Given the description of an element on the screen output the (x, y) to click on. 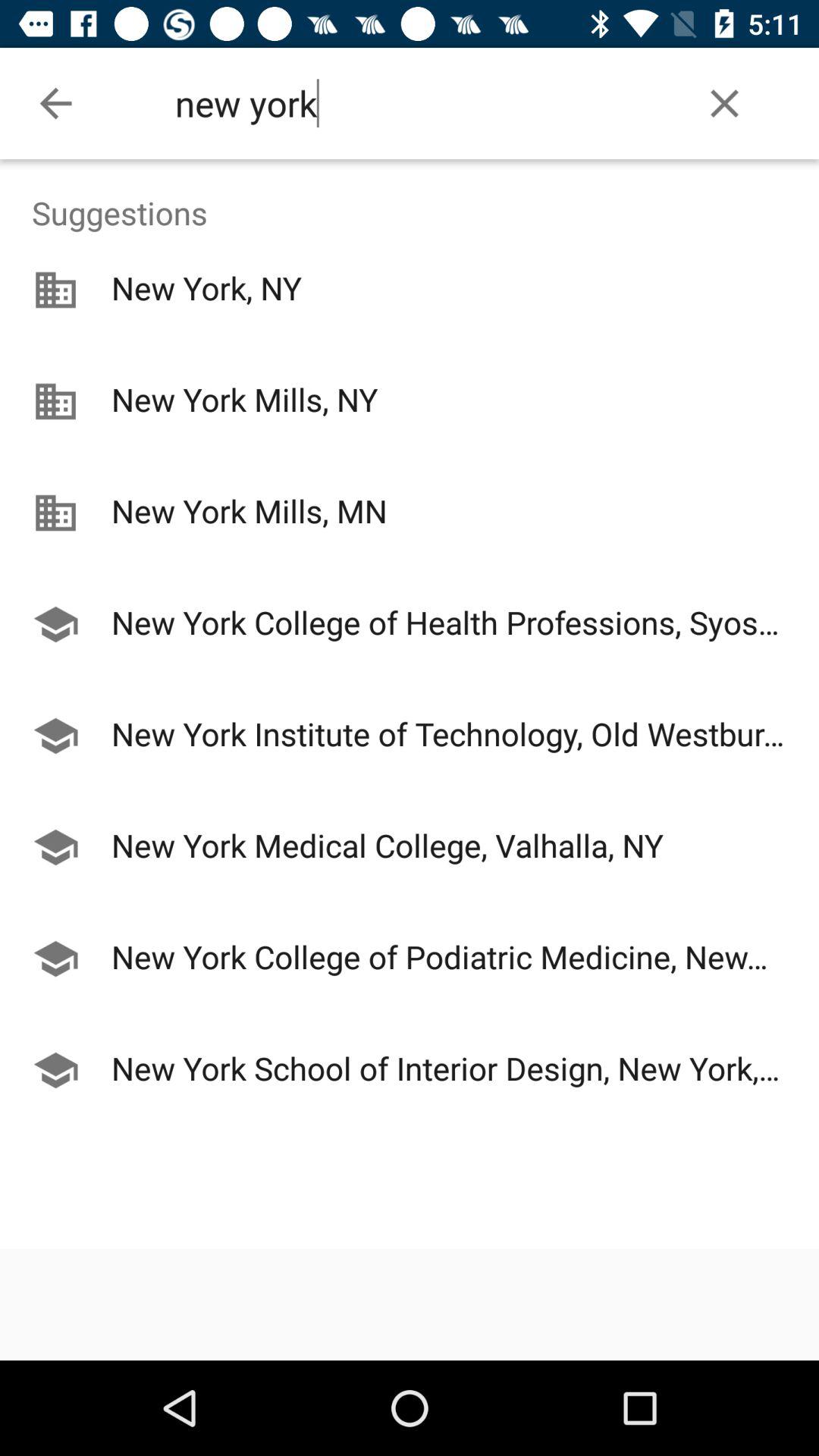
select the icon to the left of the new york icon (55, 103)
